Given the description of an element on the screen output the (x, y) to click on. 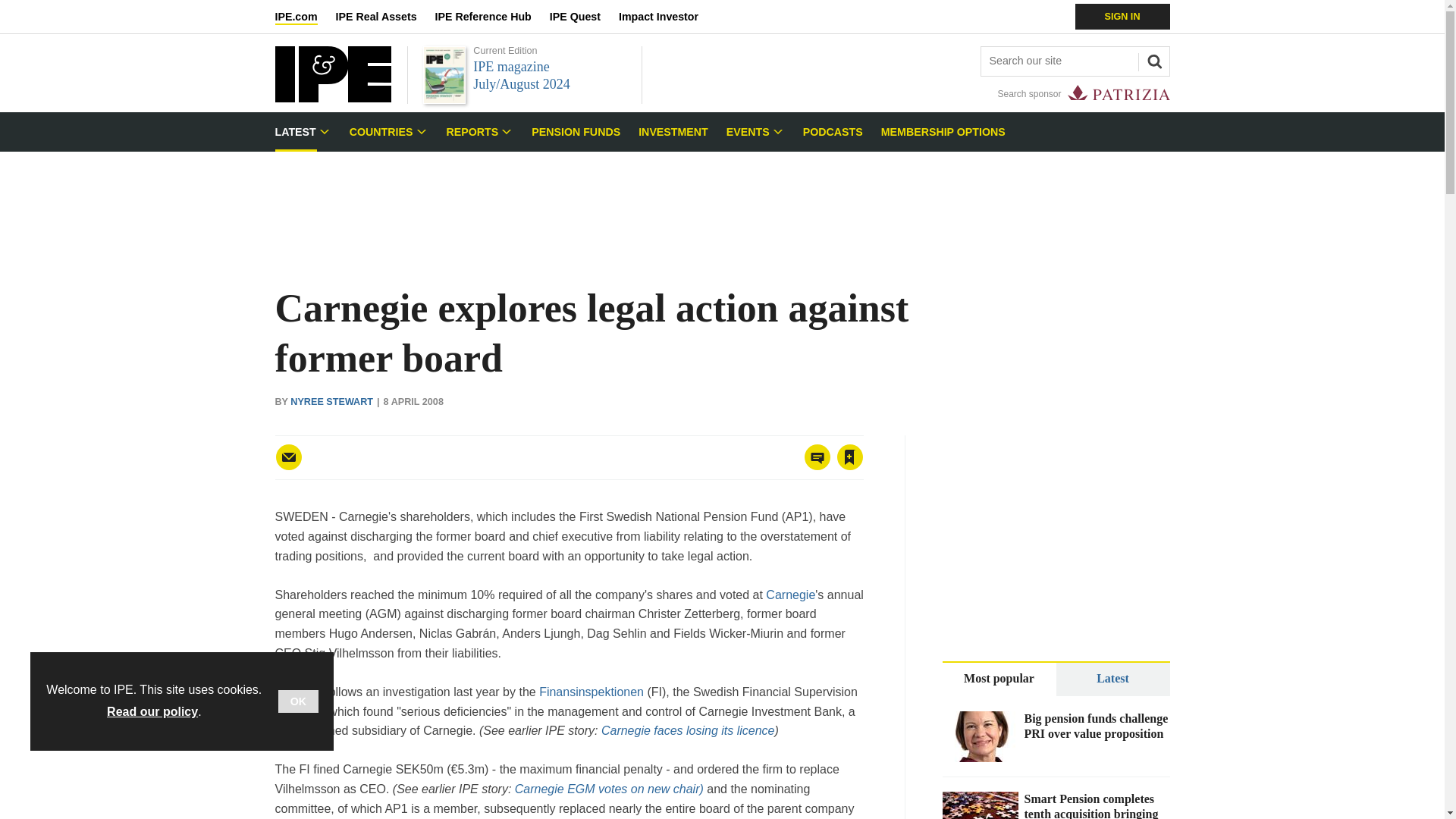
IPE Quest (583, 16)
OK (298, 701)
SEARCH (1152, 59)
IPE Quest (583, 16)
Email this article (288, 456)
3rd party ad content (1055, 529)
3rd party ad content (721, 203)
IPE (332, 97)
Impact Investor (667, 16)
Impact Investor (667, 16)
SIGN IN (1122, 16)
IPE Reference Hub (491, 16)
IPE Reference Hub (491, 16)
IPE Real Assets (384, 16)
IPE Real Assets (384, 16)
